Given the description of an element on the screen output the (x, y) to click on. 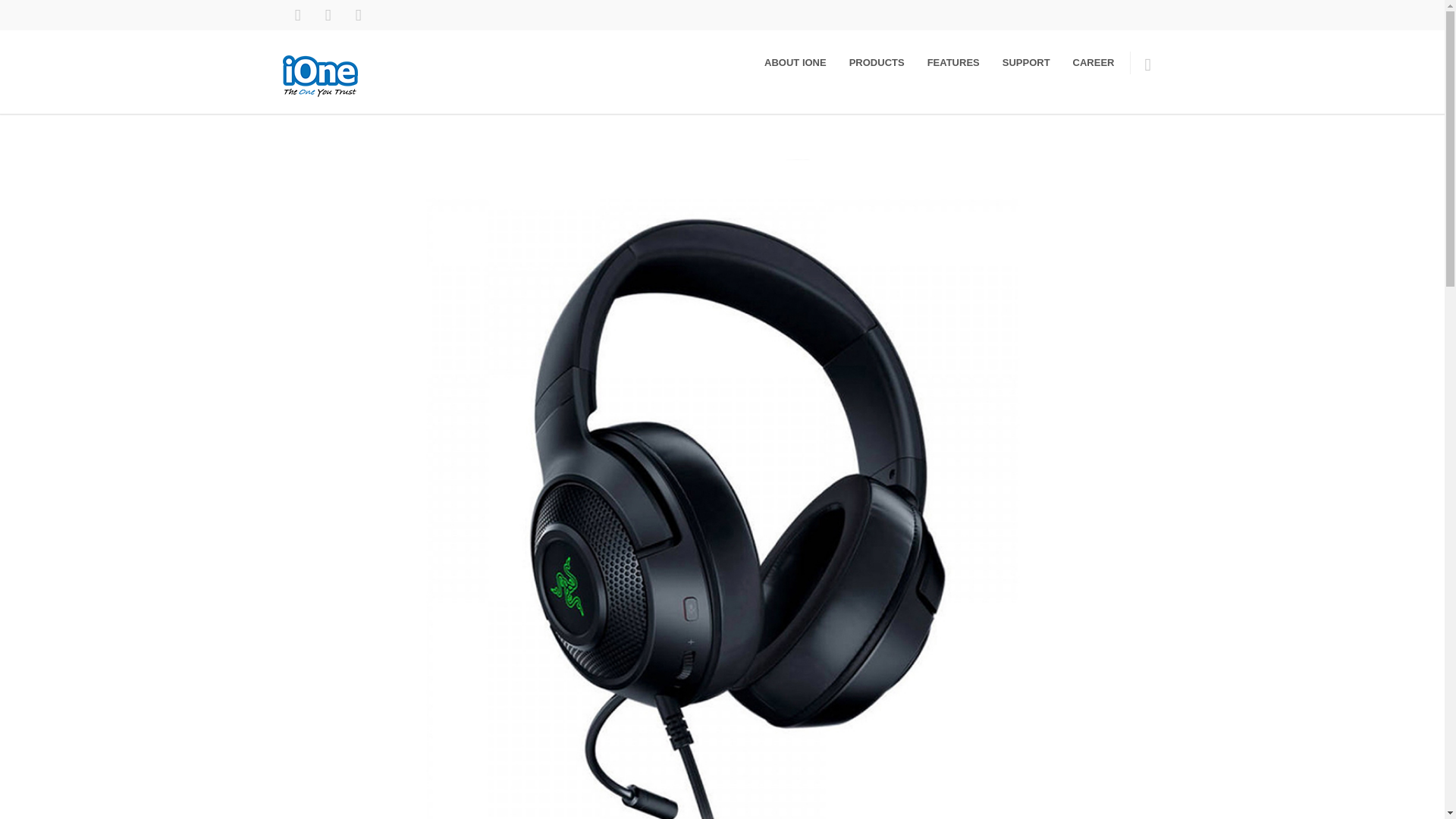
CAREER (1093, 62)
YouTube (357, 15)
ABOUT IONE (795, 62)
PRODUCTS (876, 62)
FEATURES (953, 62)
Instagram (327, 15)
Facebook (297, 15)
SUPPORT (1026, 62)
